Given the description of an element on the screen output the (x, y) to click on. 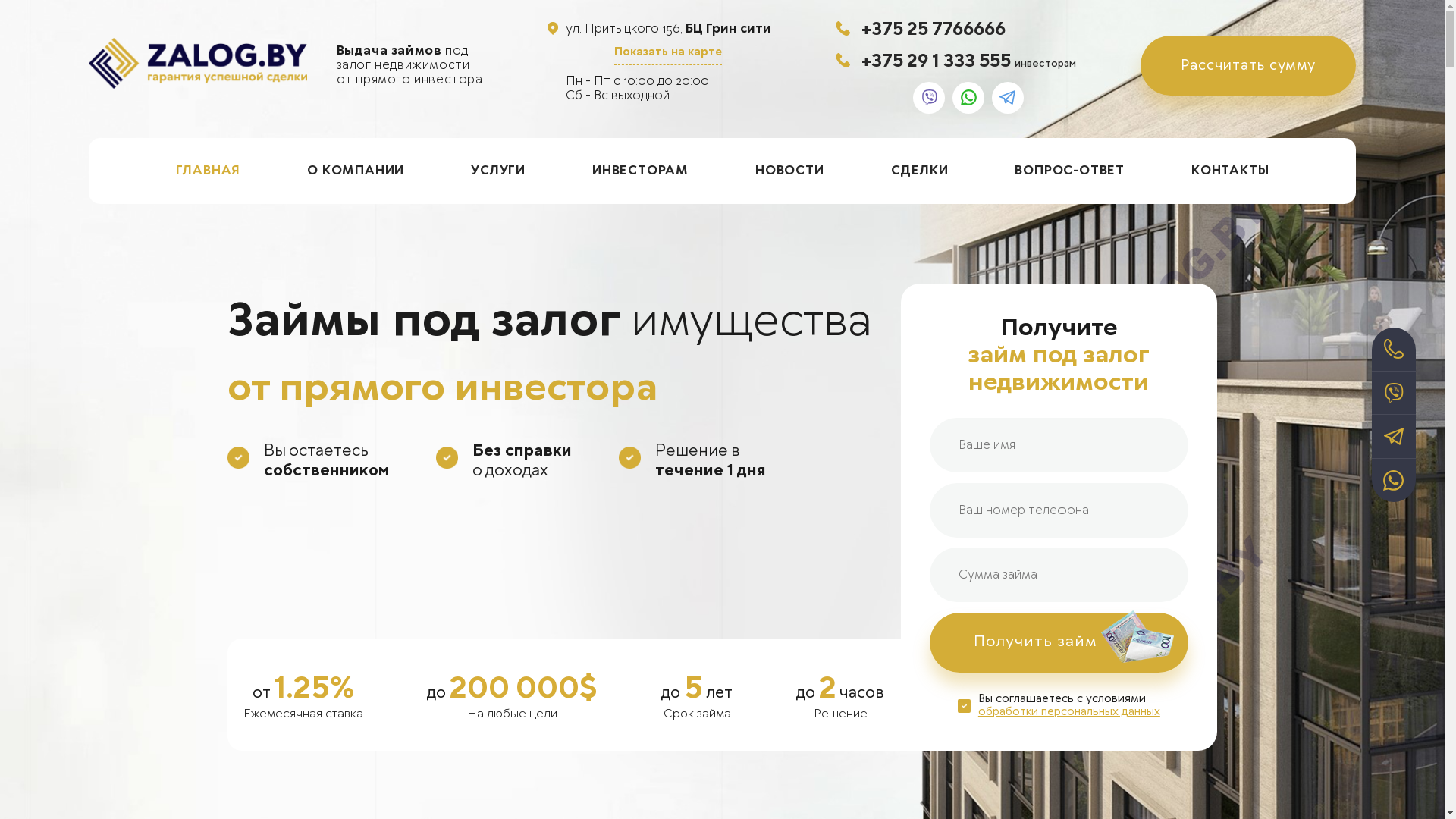
+375 25 7766666 Element type: text (933, 28)
